Given the description of an element on the screen output the (x, y) to click on. 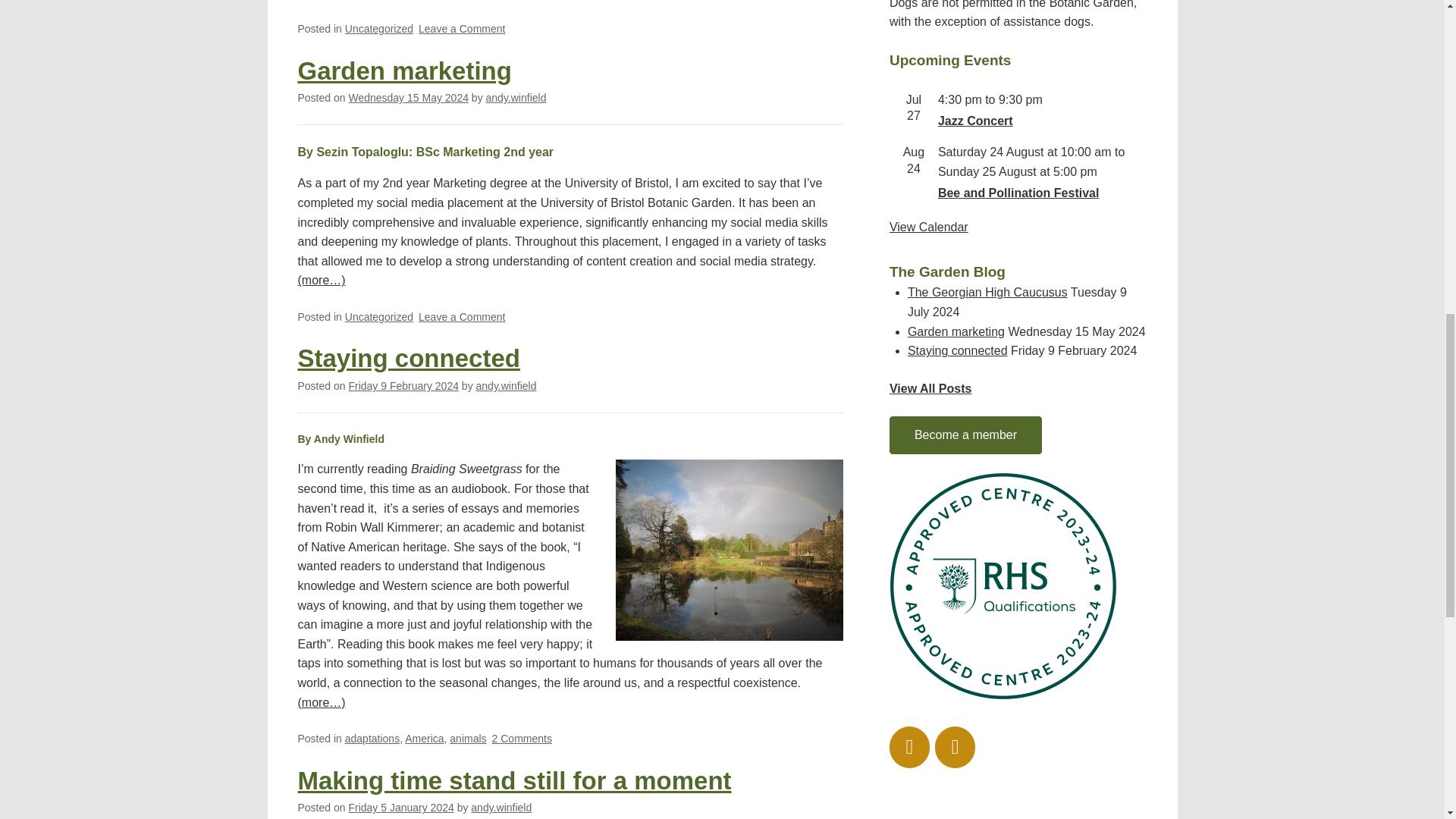
Uncategorized (379, 28)
Jazz Concert (975, 120)
View more events. (928, 226)
Bee and Pollination Festival (1018, 192)
University of Bristol Botanic Garden on Instagram (909, 747)
University of Bristol Botanic Garden on Facebook (954, 747)
